Given the description of an element on the screen output the (x, y) to click on. 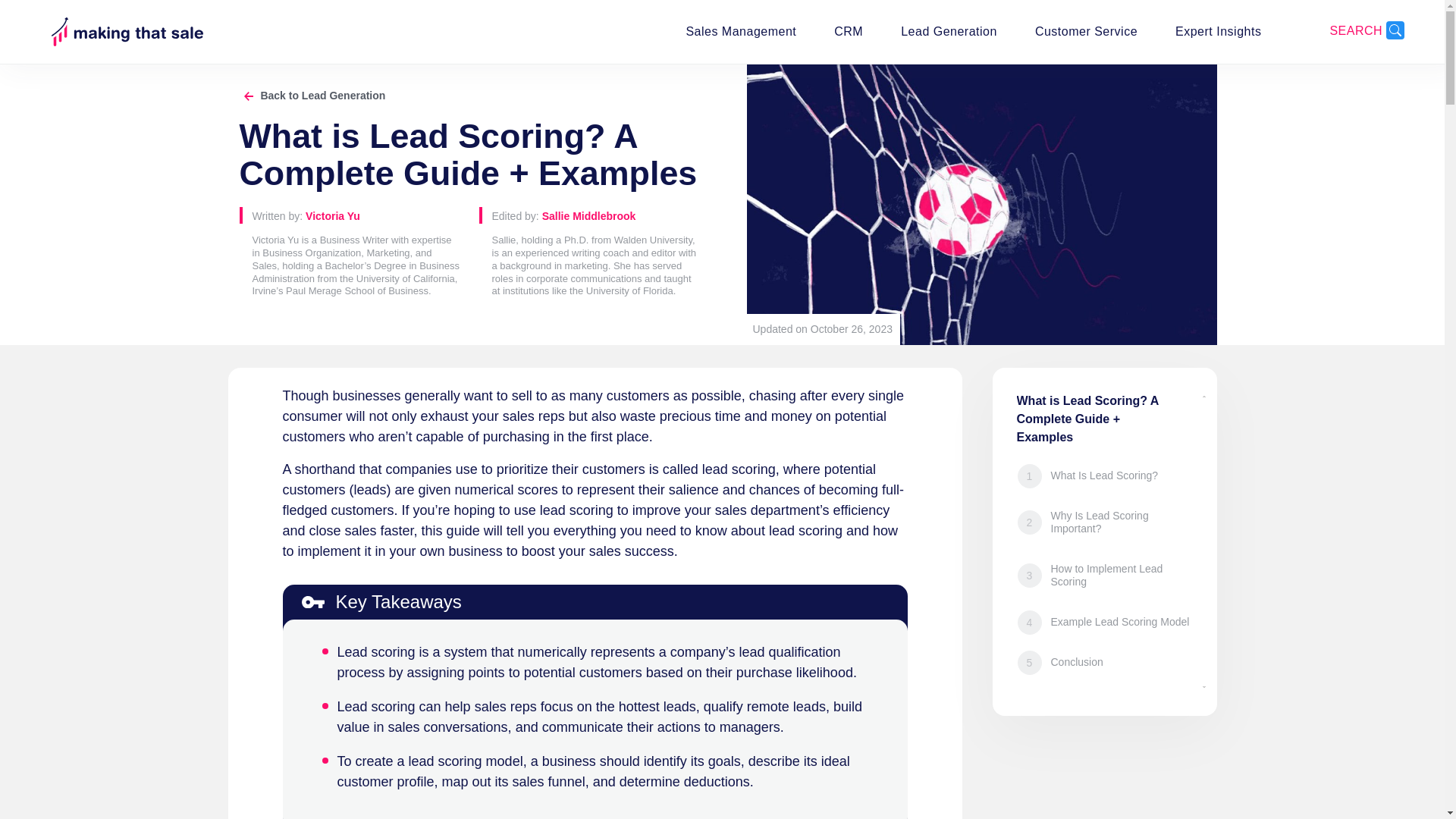
Sales Management (740, 31)
Customer Service (1086, 31)
CRM (848, 31)
Back to Lead Generation (312, 95)
Expert Insights (1217, 31)
Posts by Victoria Yu (332, 215)
Lead Generation (949, 31)
Victoria Yu (332, 215)
Posts by Sallie Middlebrook (588, 215)
Sallie Middlebrook (588, 215)
